Given the description of an element on the screen output the (x, y) to click on. 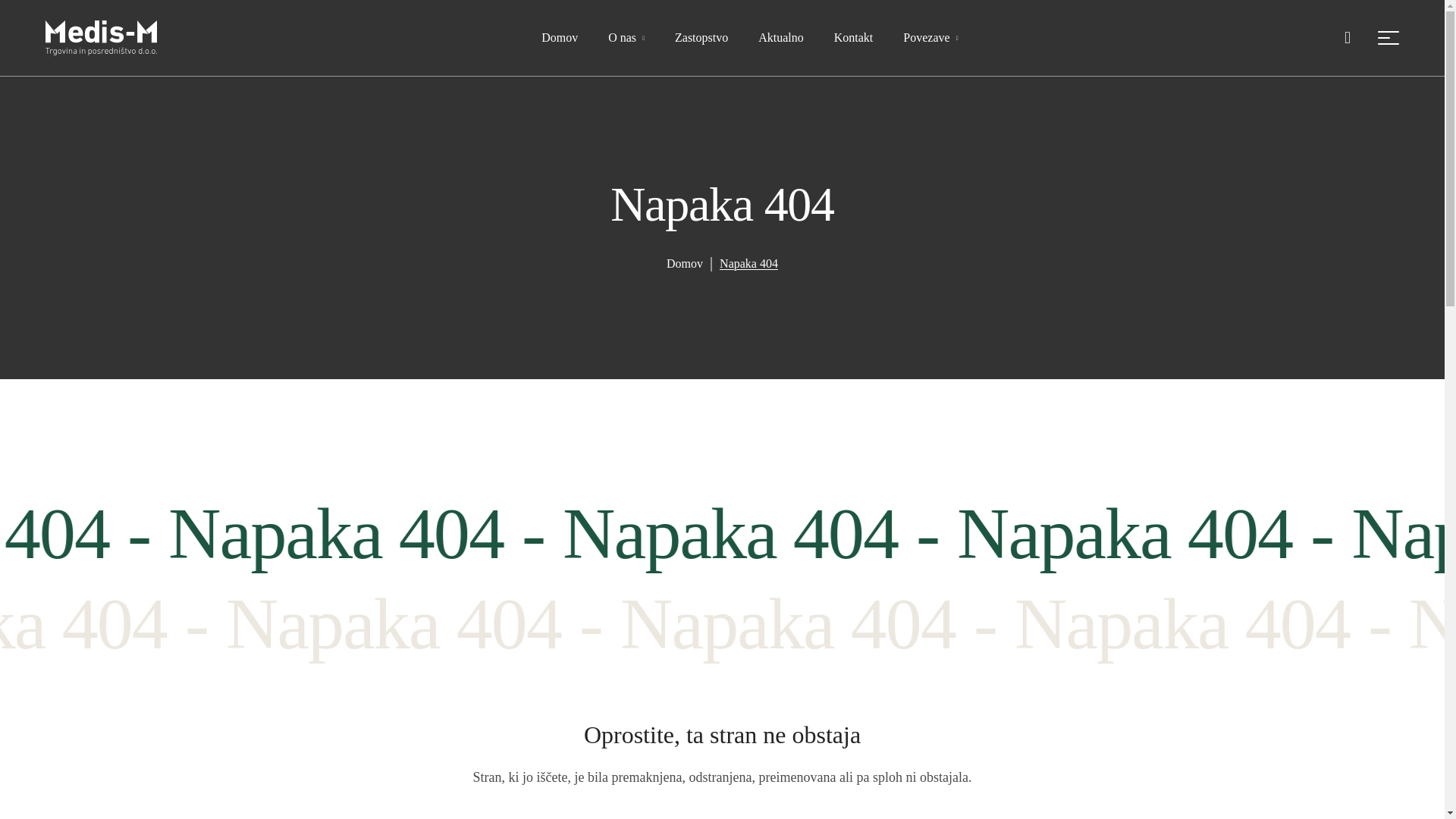
Iskanje (515, 814)
Open (1388, 37)
Iskanje (515, 814)
